Given the description of an element on the screen output the (x, y) to click on. 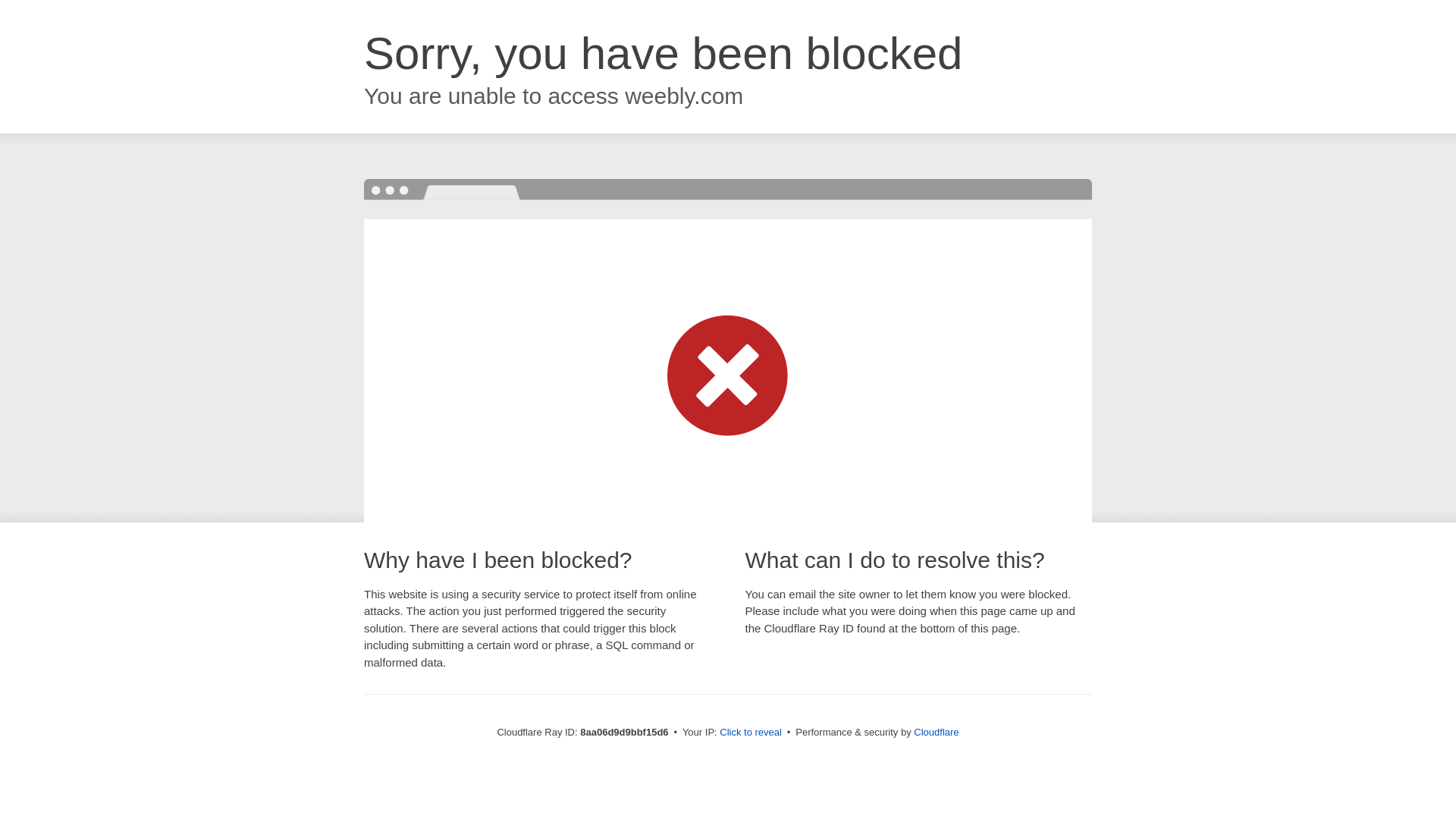
Cloudflare (936, 731)
Click to reveal (750, 732)
